Given the description of an element on the screen output the (x, y) to click on. 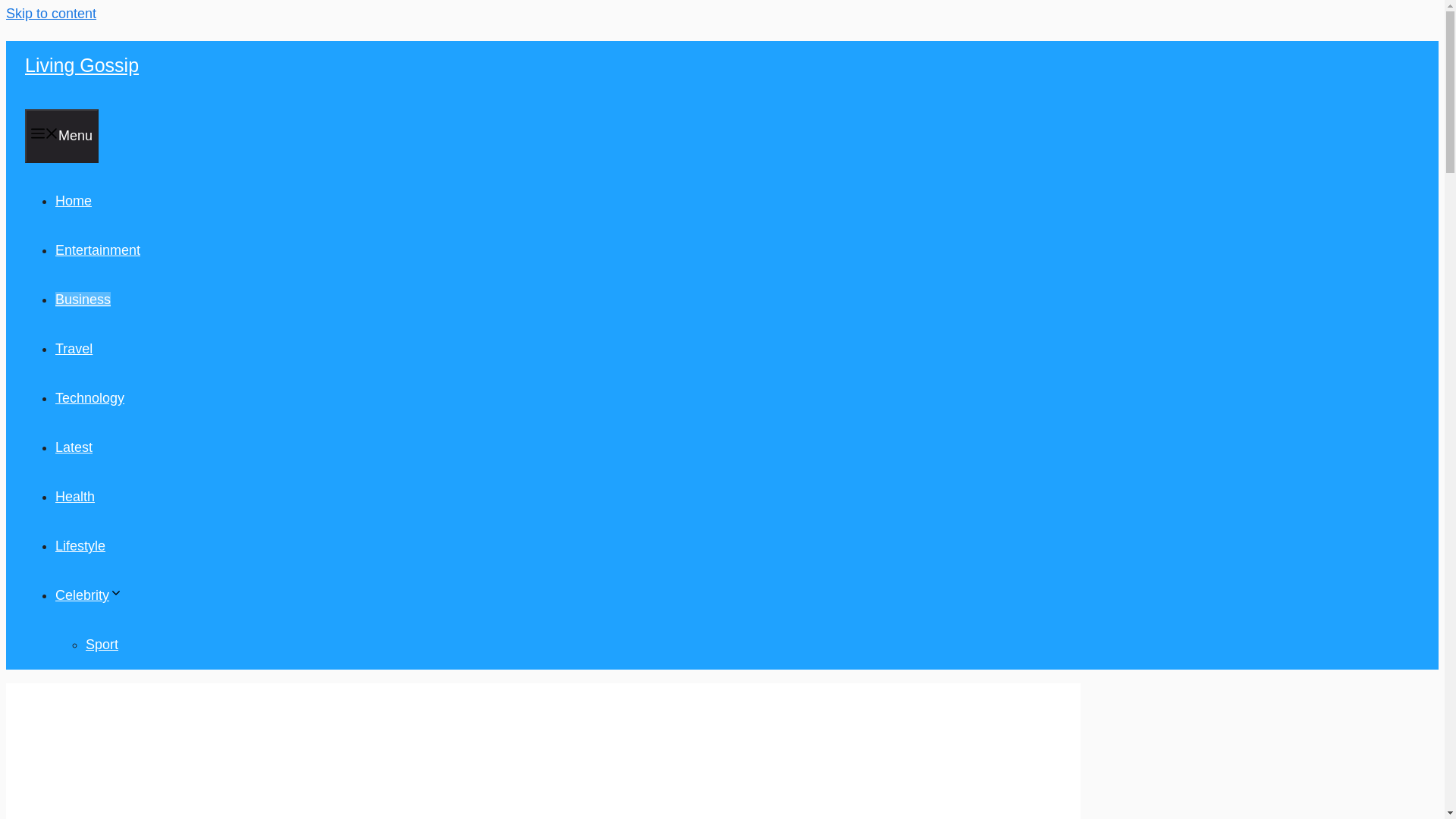
Celebrity (88, 595)
Travel (74, 348)
Lifestyle (79, 545)
Skip to content (50, 13)
Business (82, 299)
Menu (61, 135)
Home (73, 200)
Entertainment (97, 249)
Skip to content (50, 13)
Technology (89, 397)
